Given the description of an element on the screen output the (x, y) to click on. 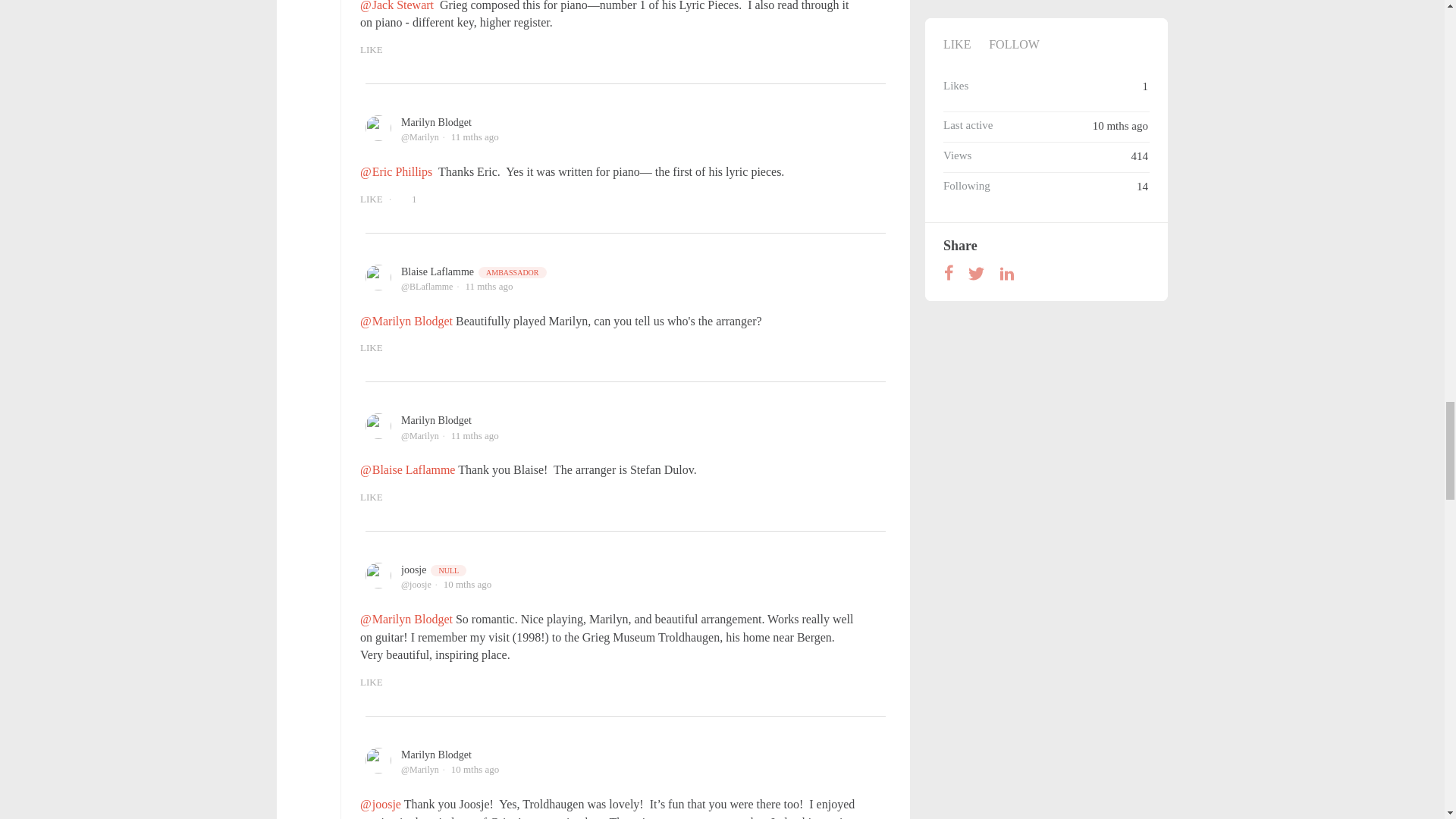
Marilyn Blodget (436, 122)
